Given the description of an element on the screen output the (x, y) to click on. 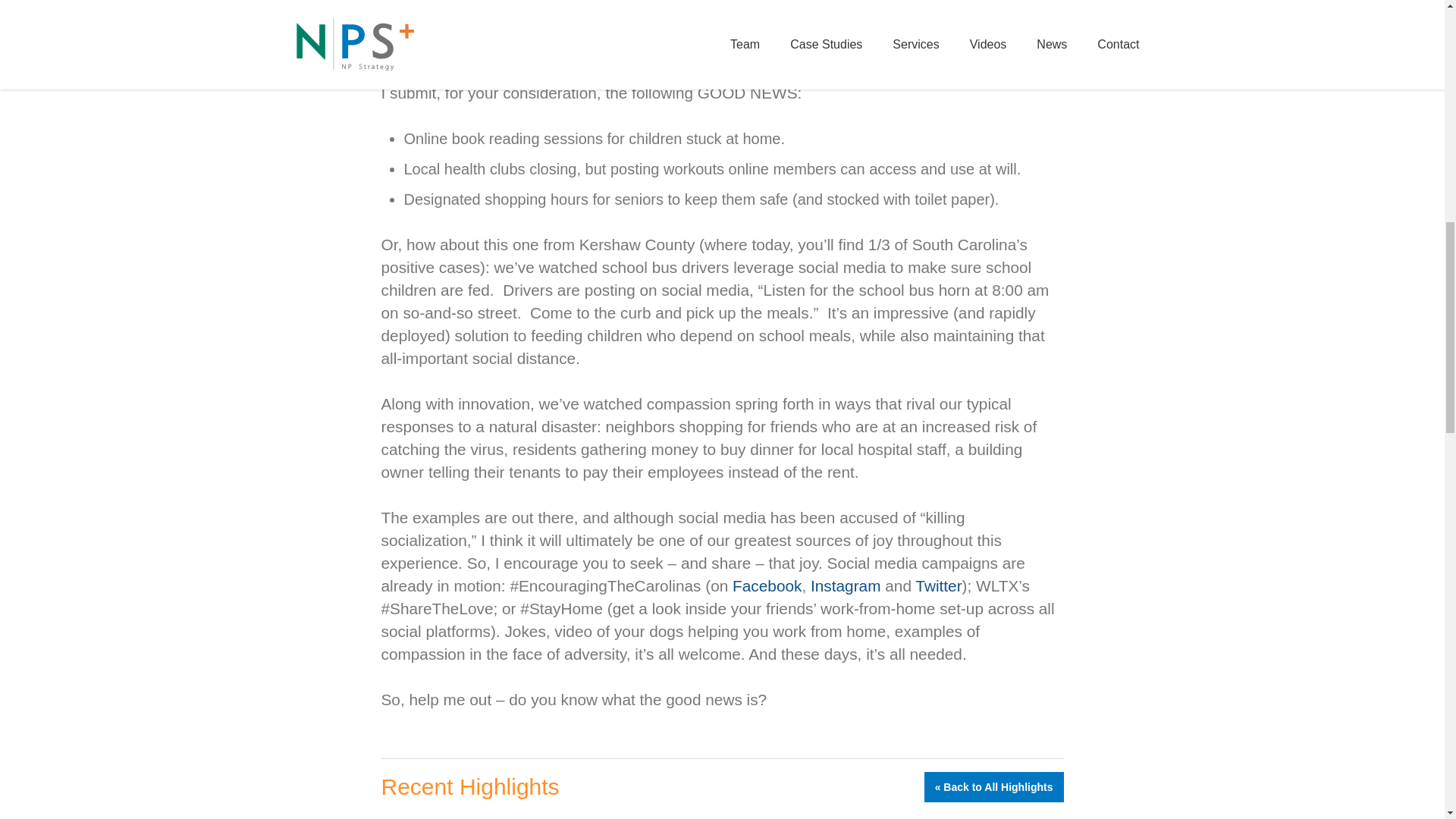
Instagram (845, 585)
Twitter (937, 585)
Facebook (767, 585)
